Given the description of an element on the screen output the (x, y) to click on. 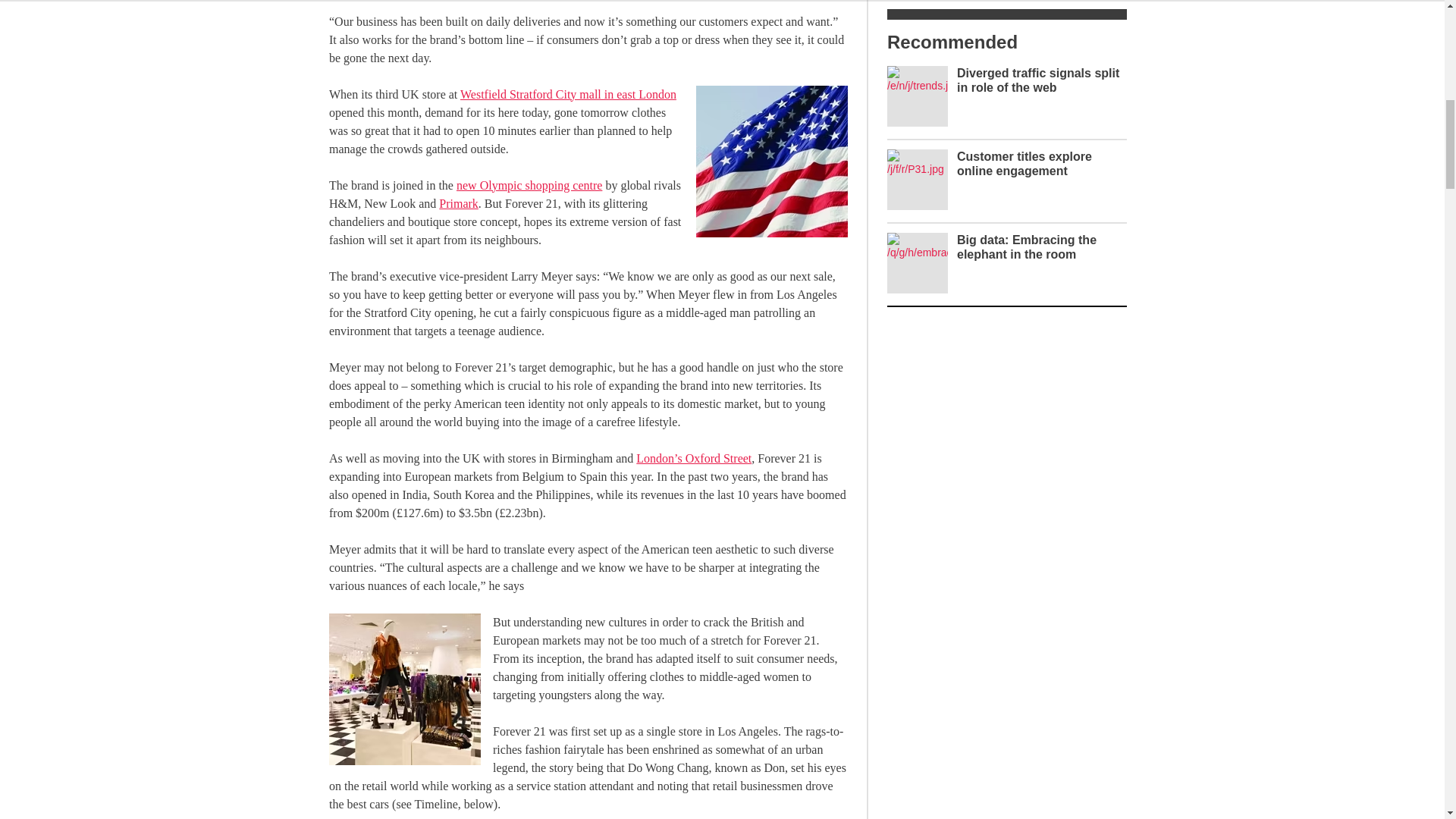
Westfield Stratford City mall in east London (568, 93)
Primark (459, 203)
new Olympic shopping centre (529, 185)
